Given the description of an element on the screen output the (x, y) to click on. 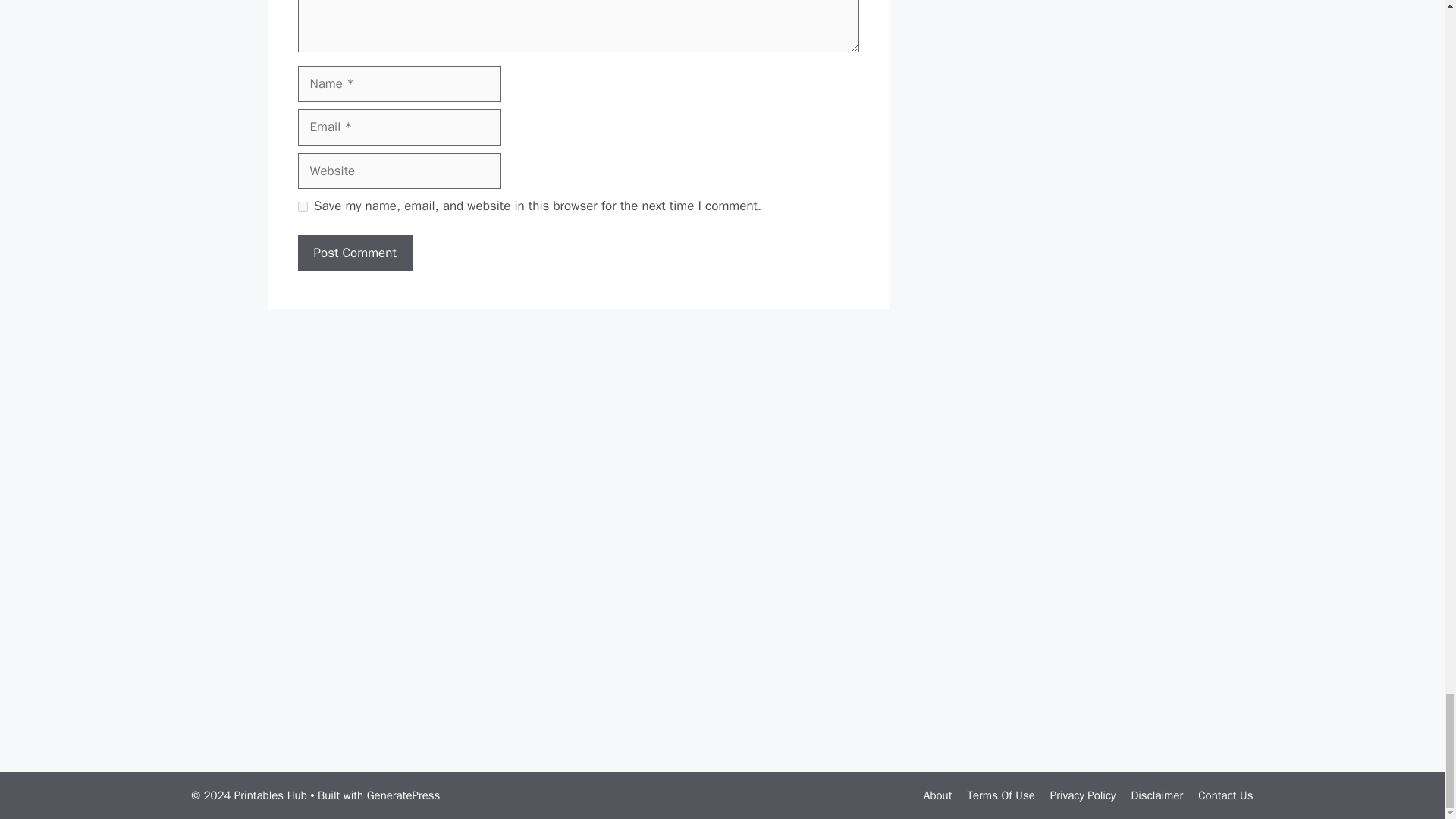
Post Comment (354, 253)
Privacy Policy (1082, 795)
GeneratePress (403, 795)
Post Comment (354, 253)
About (937, 795)
Contact Us (1225, 795)
Terms Of Use (999, 795)
yes (302, 206)
Disclaimer (1156, 795)
